Given the description of an element on the screen output the (x, y) to click on. 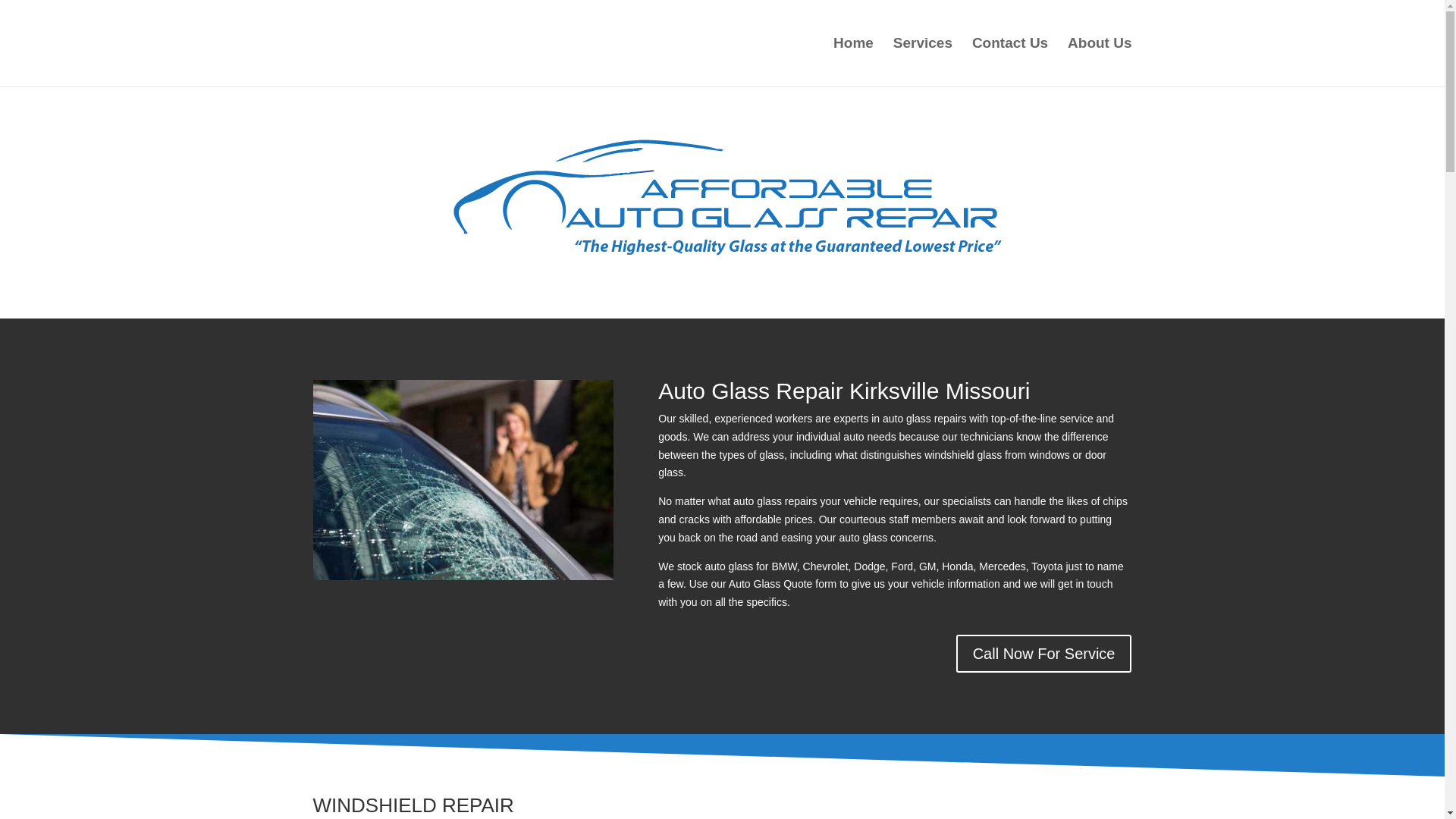
About Us (1099, 61)
Services (922, 61)
Call Now For Service (1044, 653)
Contact Us (1010, 61)
